Given the description of an element on the screen output the (x, y) to click on. 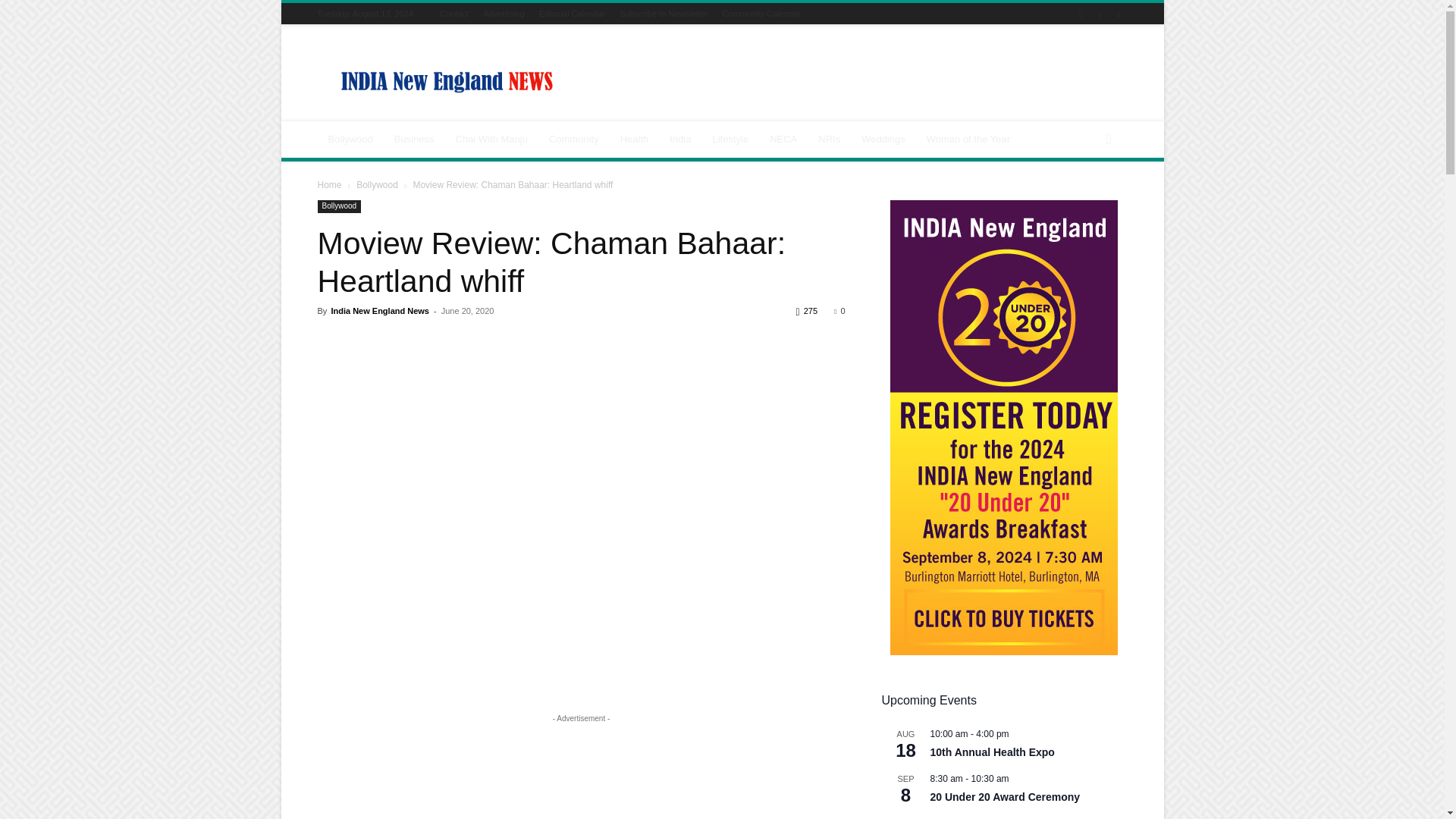
NRIs (829, 139)
India (680, 139)
Weddings (882, 139)
Bollywood (349, 139)
Community Calendar (760, 13)
Health (634, 139)
Lifestyle (729, 139)
Contact (453, 13)
Business (414, 139)
Advertising (503, 13)
